Given the description of an element on the screen output the (x, y) to click on. 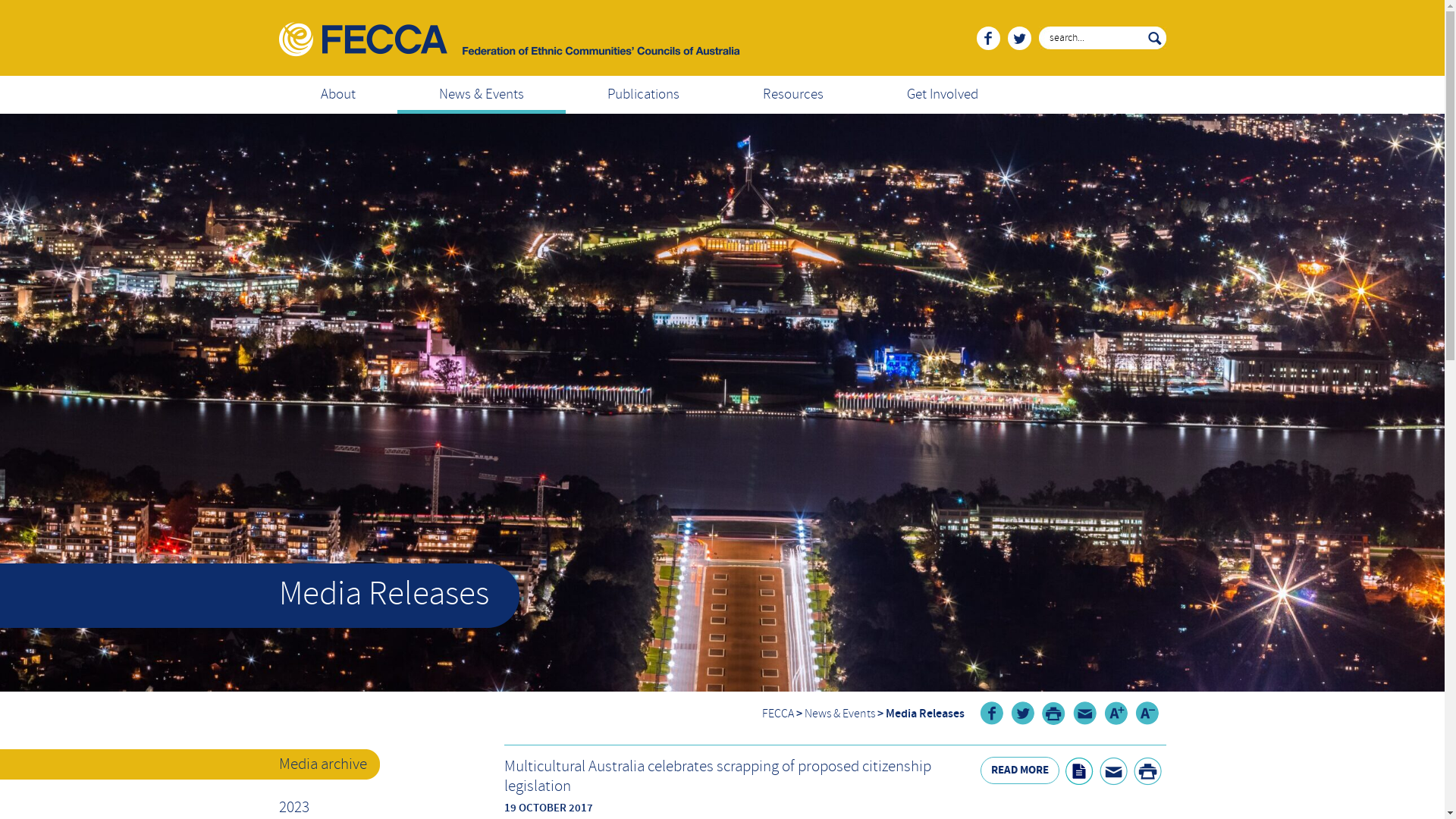
Share Element type: hover (1021, 712)
Share Element type: hover (991, 712)
Email link Element type: hover (1083, 712)
Decrease text size Element type: hover (1145, 712)
News & Events Element type: text (838, 713)
READ MORE Element type: text (1018, 770)
Publications Element type: text (643, 94)
News & Events Element type: text (481, 94)
Resources Element type: text (792, 94)
Email link Element type: hover (1113, 770)
FECCA Element type: text (777, 713)
2023 Element type: text (294, 807)
Print Element type: hover (1053, 712)
About Element type: text (338, 94)
Print Element type: hover (1146, 770)
Get Involved Element type: text (941, 94)
Increase text size Element type: hover (1115, 712)
Generate PDF Element type: hover (1078, 770)
